Given the description of an element on the screen output the (x, y) to click on. 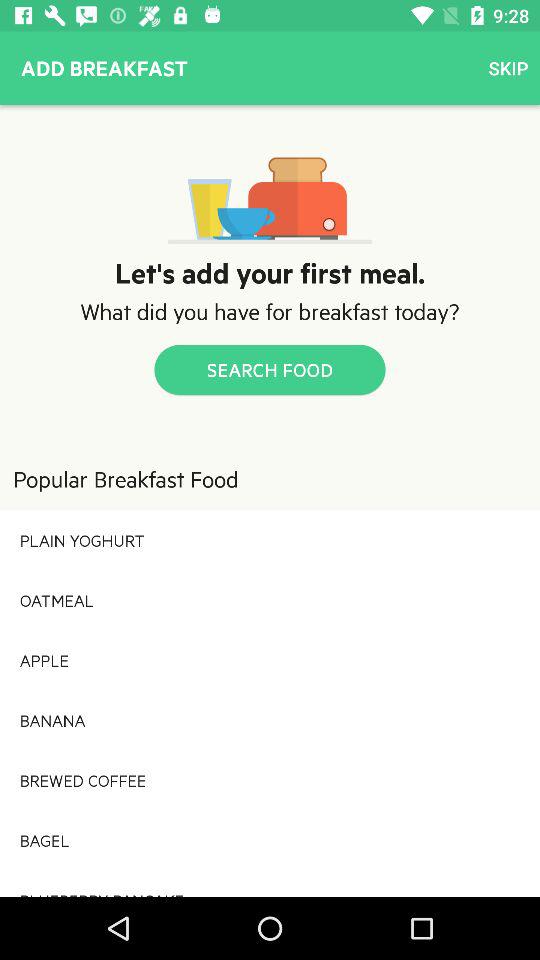
select the item below the bagel (270, 883)
